Given the description of an element on the screen output the (x, y) to click on. 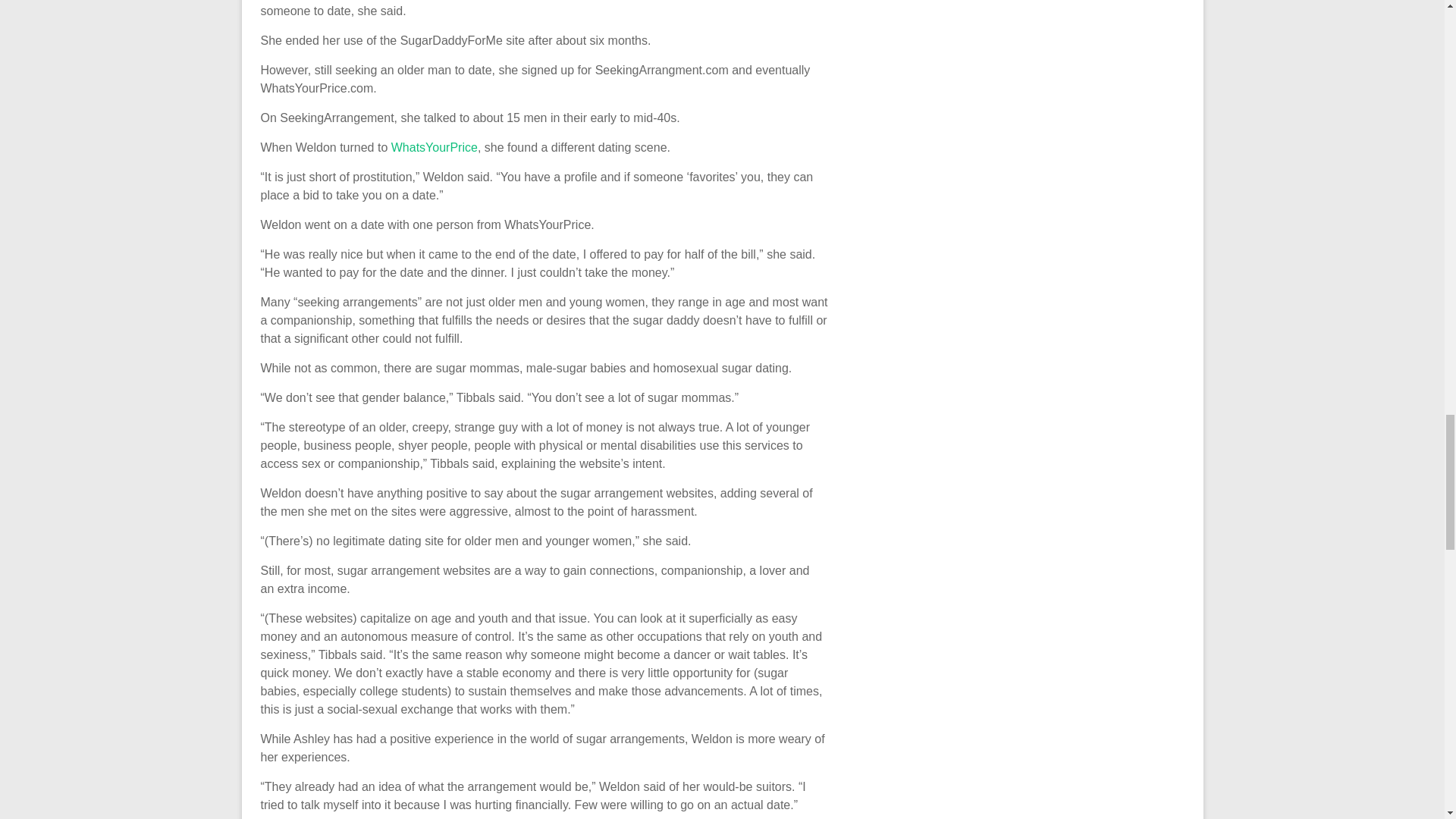
WhatsYourPrice (434, 146)
WhatsYourPrice (434, 146)
